Given the description of an element on the screen output the (x, y) to click on. 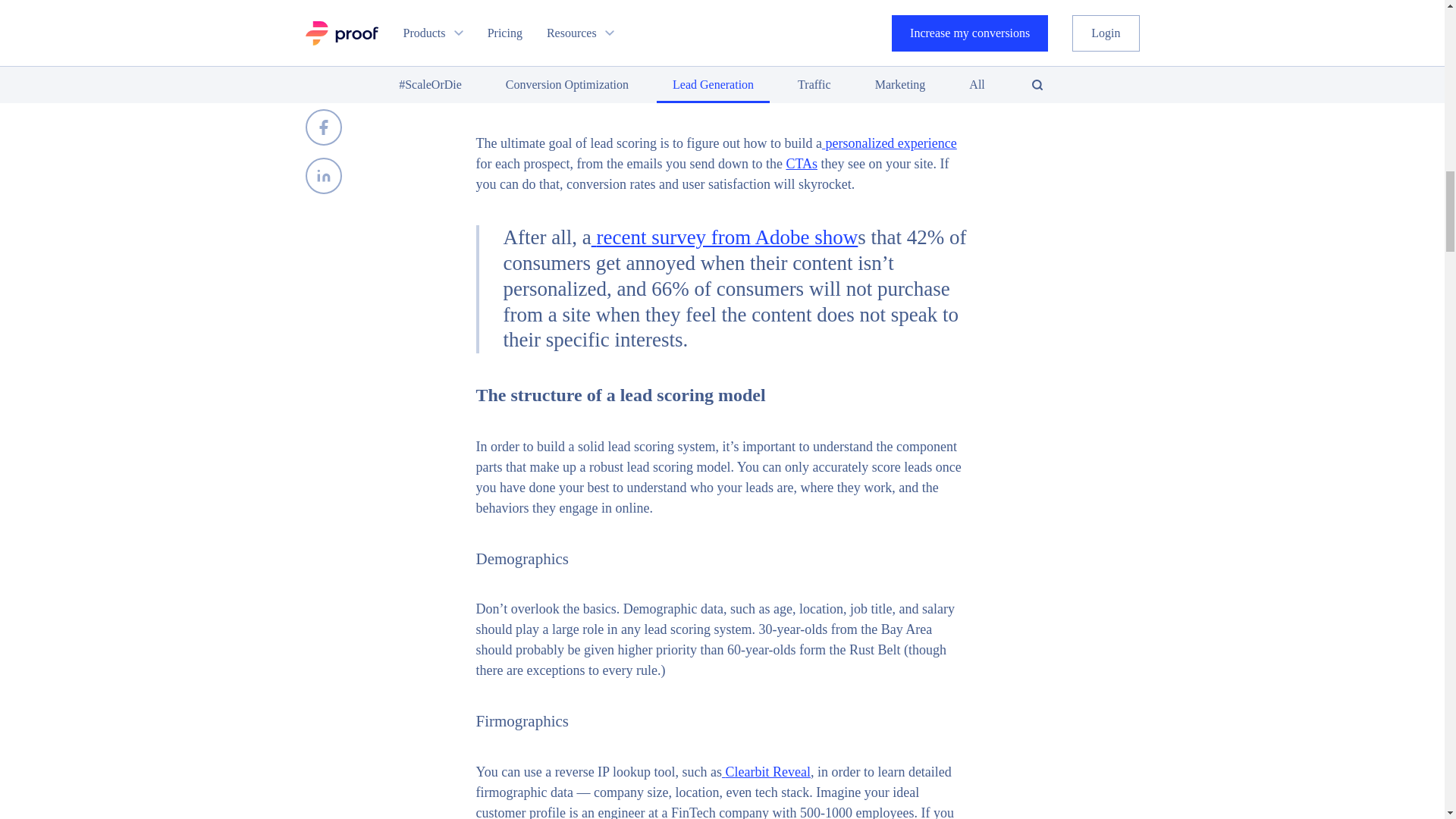
CTAs (801, 163)
Clearbit Reveal (767, 771)
recent survey from Adobe show (726, 237)
personalized experience (890, 142)
 boost close rates (541, 38)
